Given the description of an element on the screen output the (x, y) to click on. 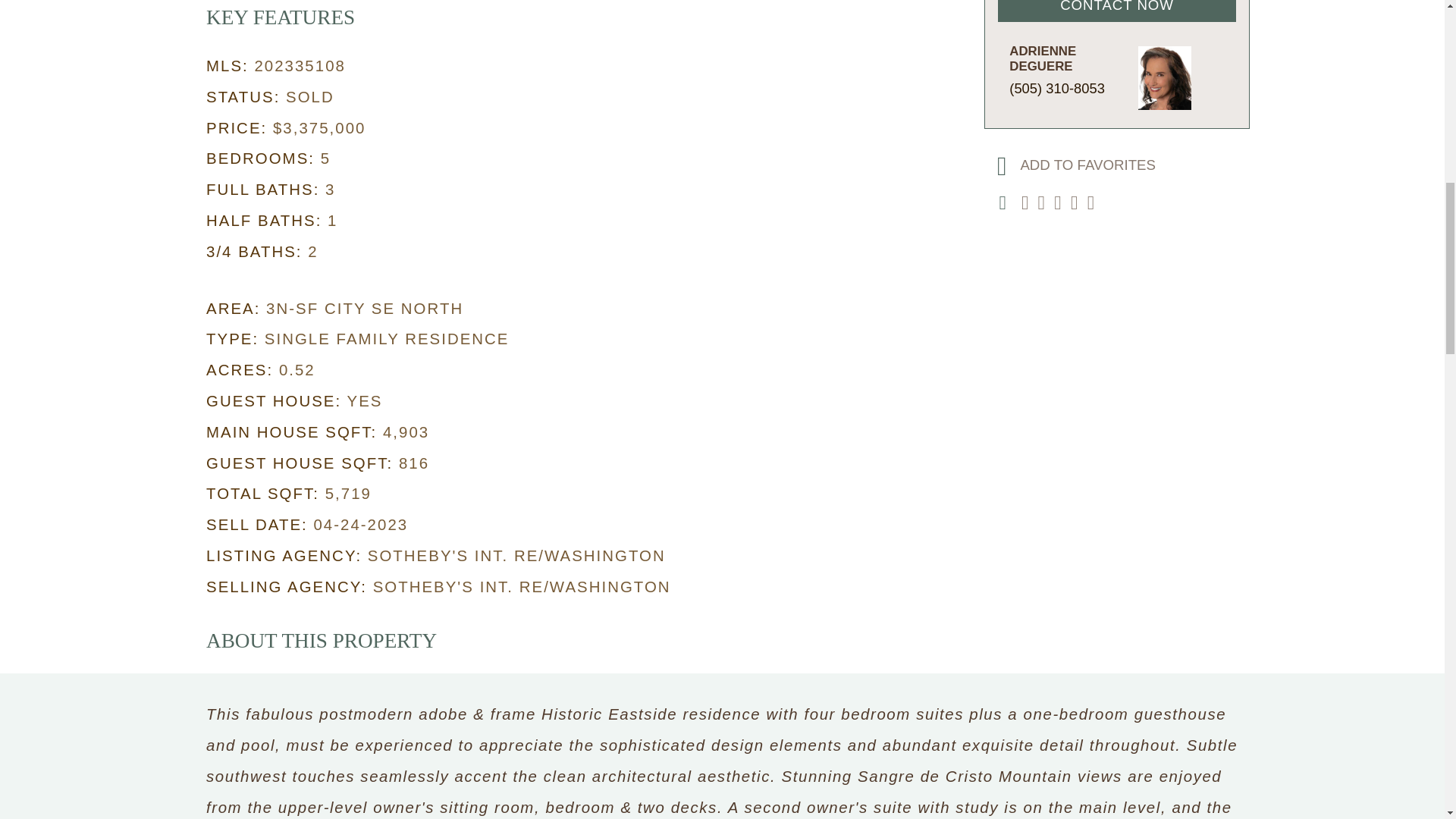
Contact Now (1116, 11)
Email Listing to a Friend (1027, 204)
Contact Now (1116, 11)
Scroll back to top (1406, 720)
